Given the description of an element on the screen output the (x, y) to click on. 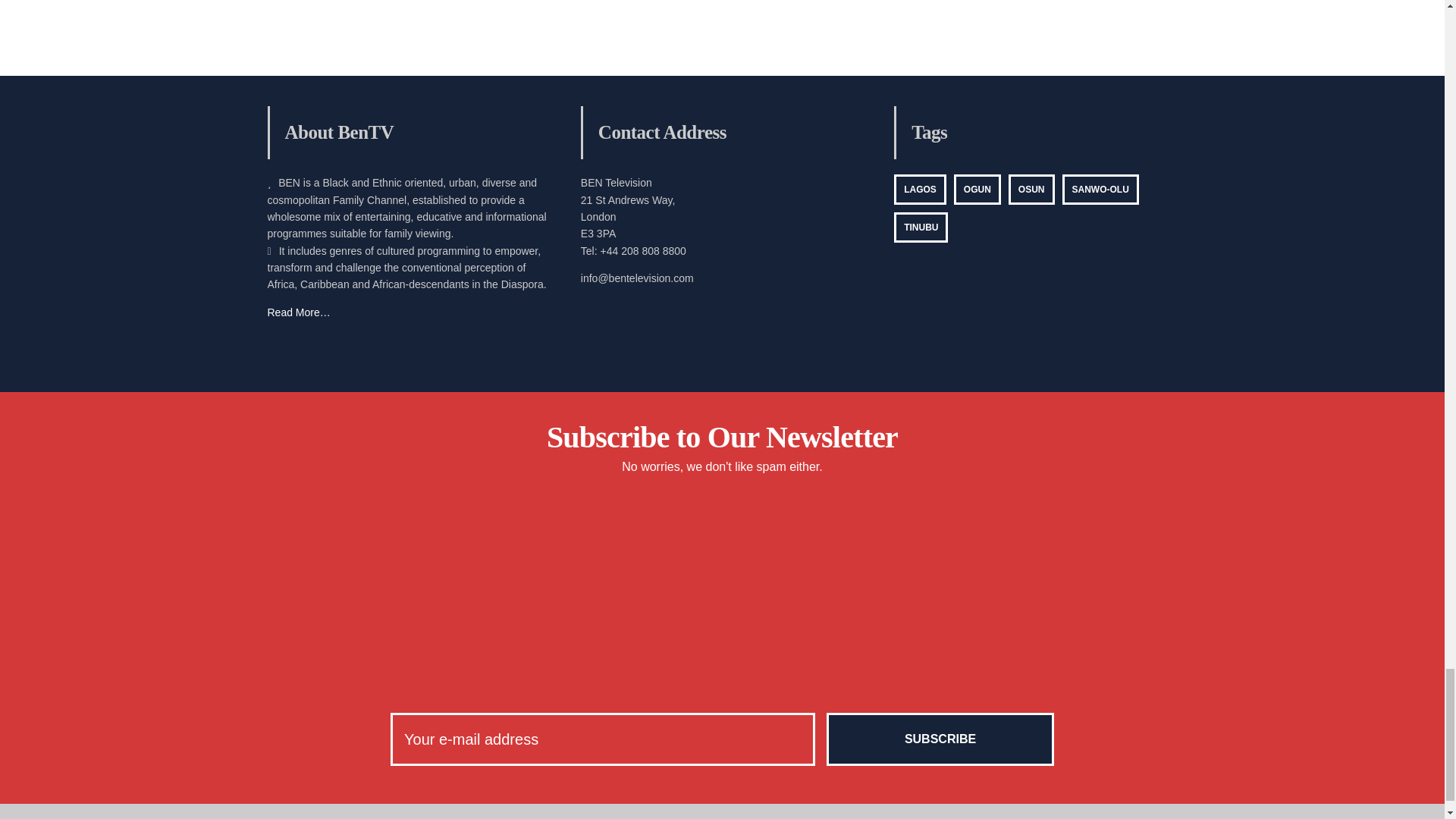
SUBSCRIBE (940, 738)
